Given the description of an element on the screen output the (x, y) to click on. 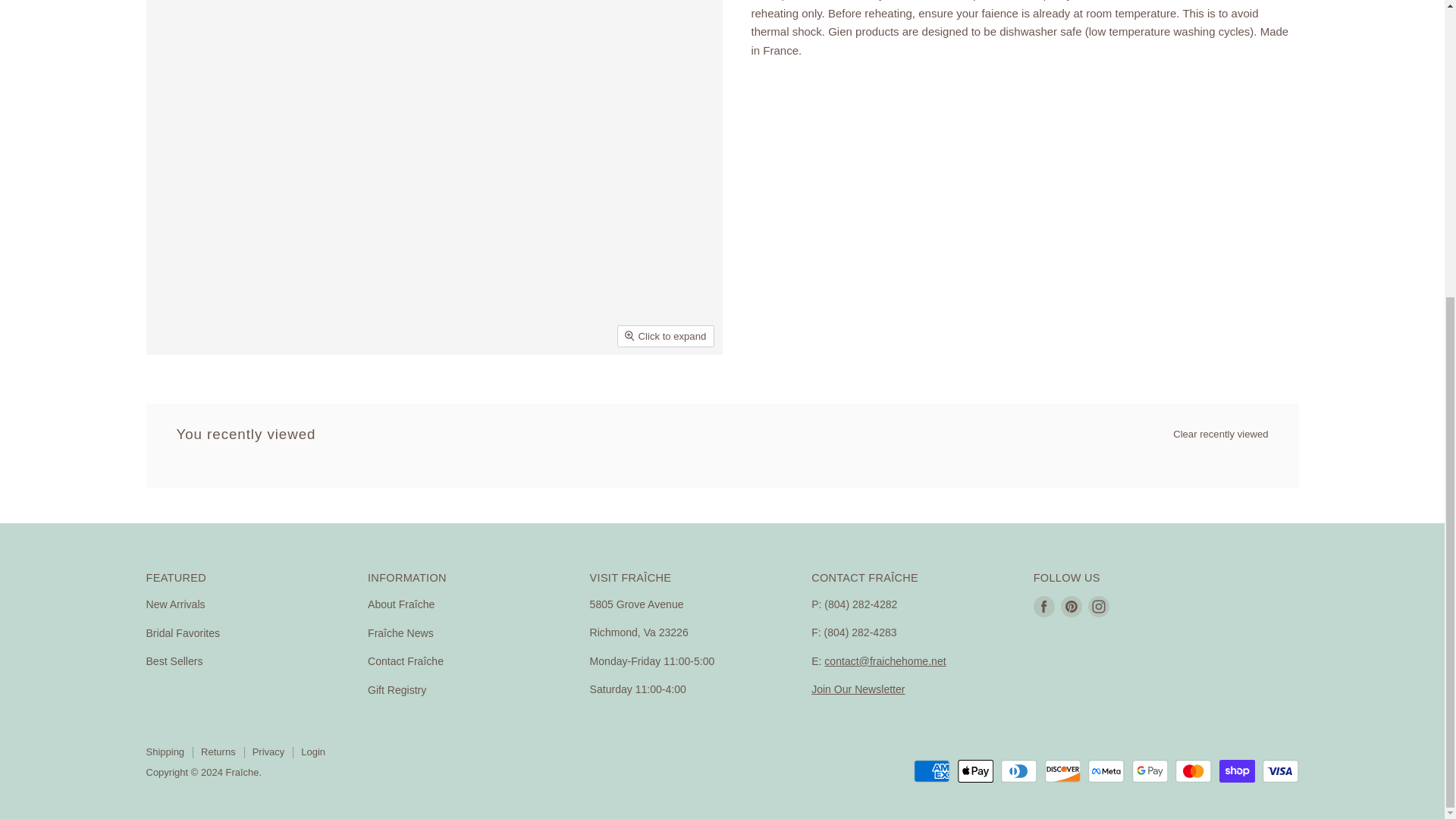
Instagram (1098, 605)
Facebook (1044, 605)
Pinterest (1071, 605)
